Given the description of an element on the screen output the (x, y) to click on. 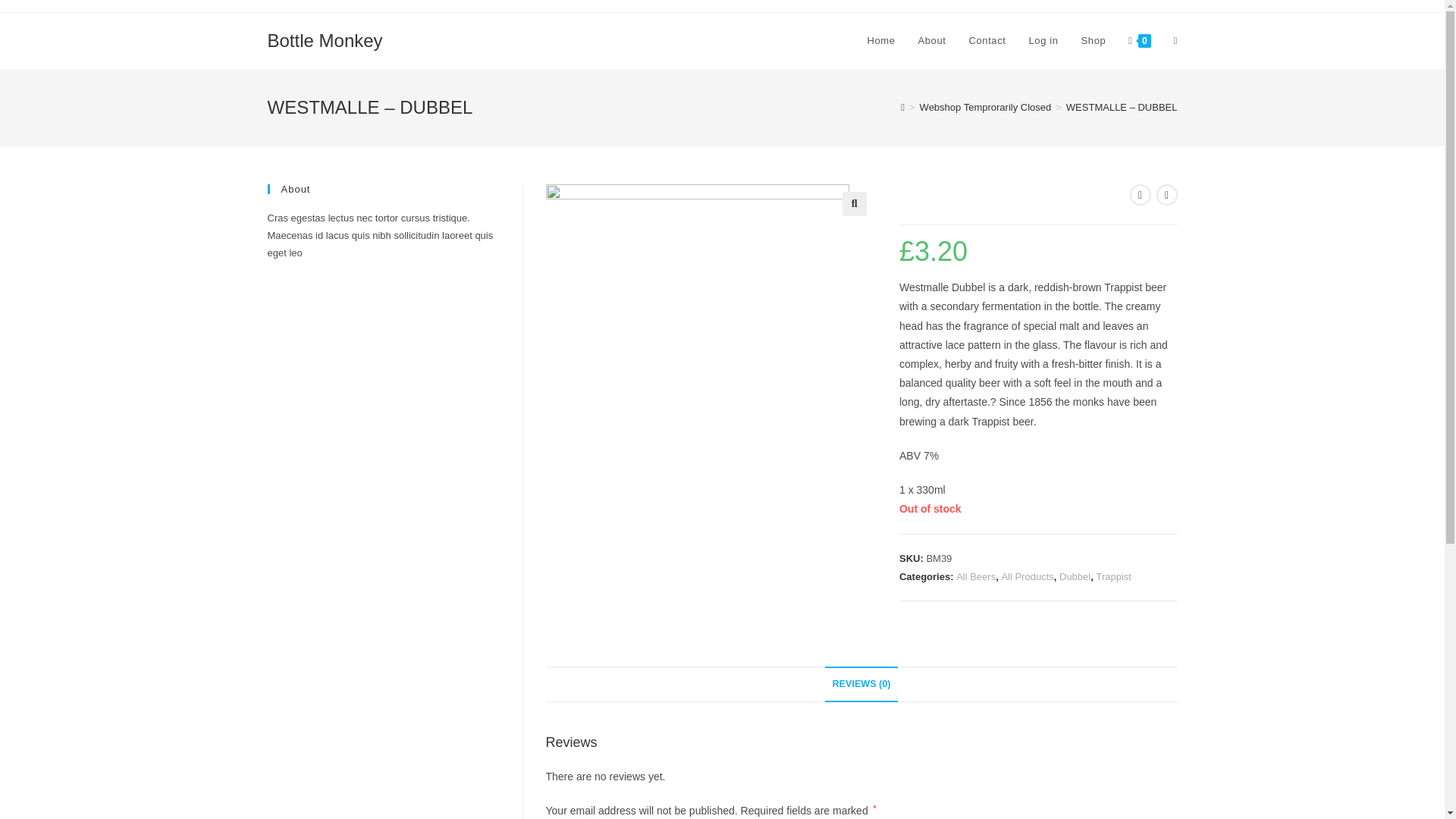
All Beers (975, 576)
Log in (1043, 40)
Trappist (1113, 576)
Contact (986, 40)
About (932, 40)
Home (880, 40)
Webshop Temprorarily Closed (985, 107)
Dubbel (1074, 576)
Bottle Monkey (323, 40)
All Products (1026, 576)
